Given the description of an element on the screen output the (x, y) to click on. 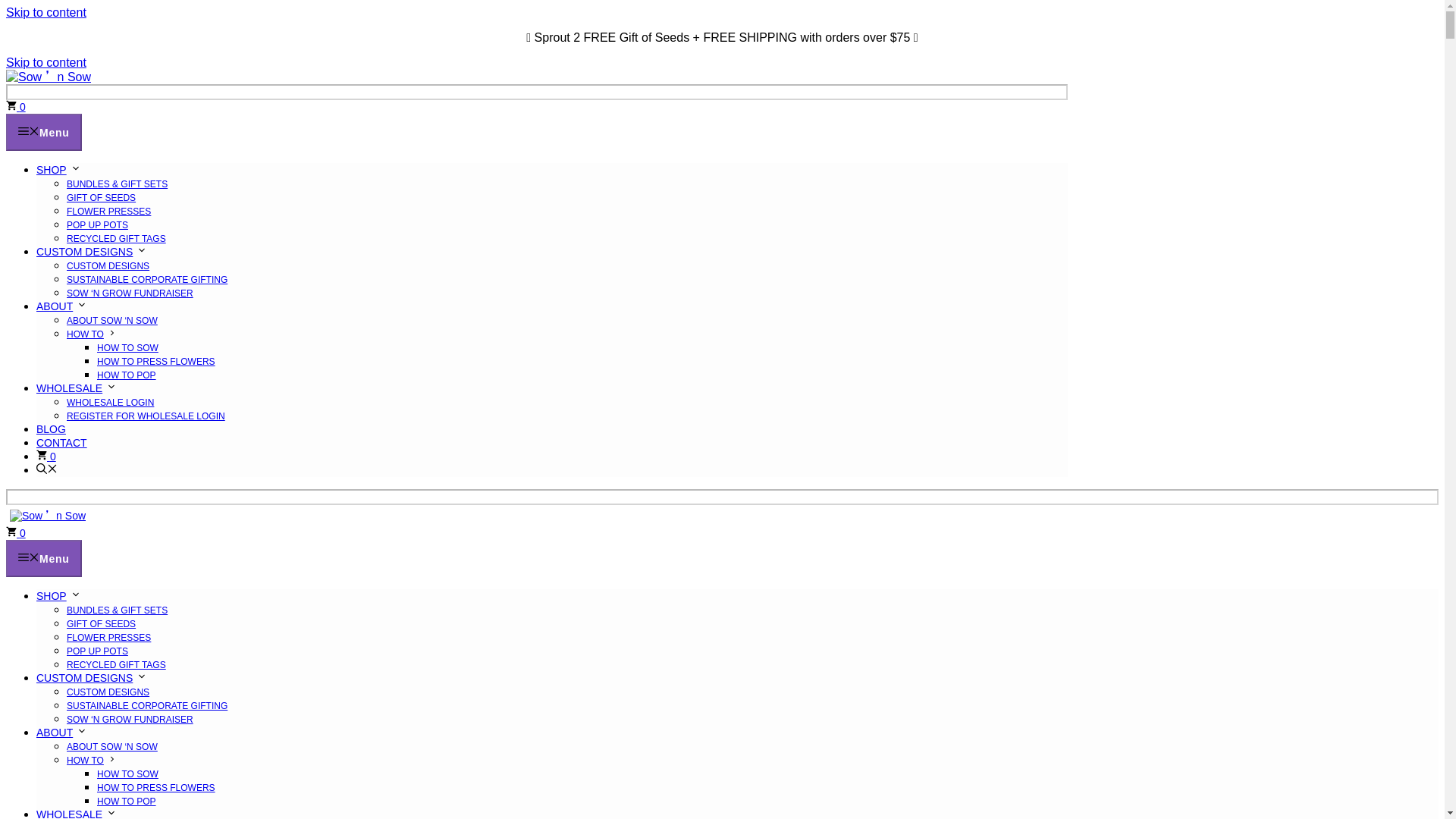
Skip to content (45, 11)
HOW TO POP (126, 375)
Search (536, 91)
BLOG (50, 428)
WHOLESALE LOGIN (110, 402)
Skip to content (45, 11)
0 (15, 532)
0 (46, 456)
View your shopping cart (46, 456)
CONTACT (61, 442)
